Given the description of an element on the screen output the (x, y) to click on. 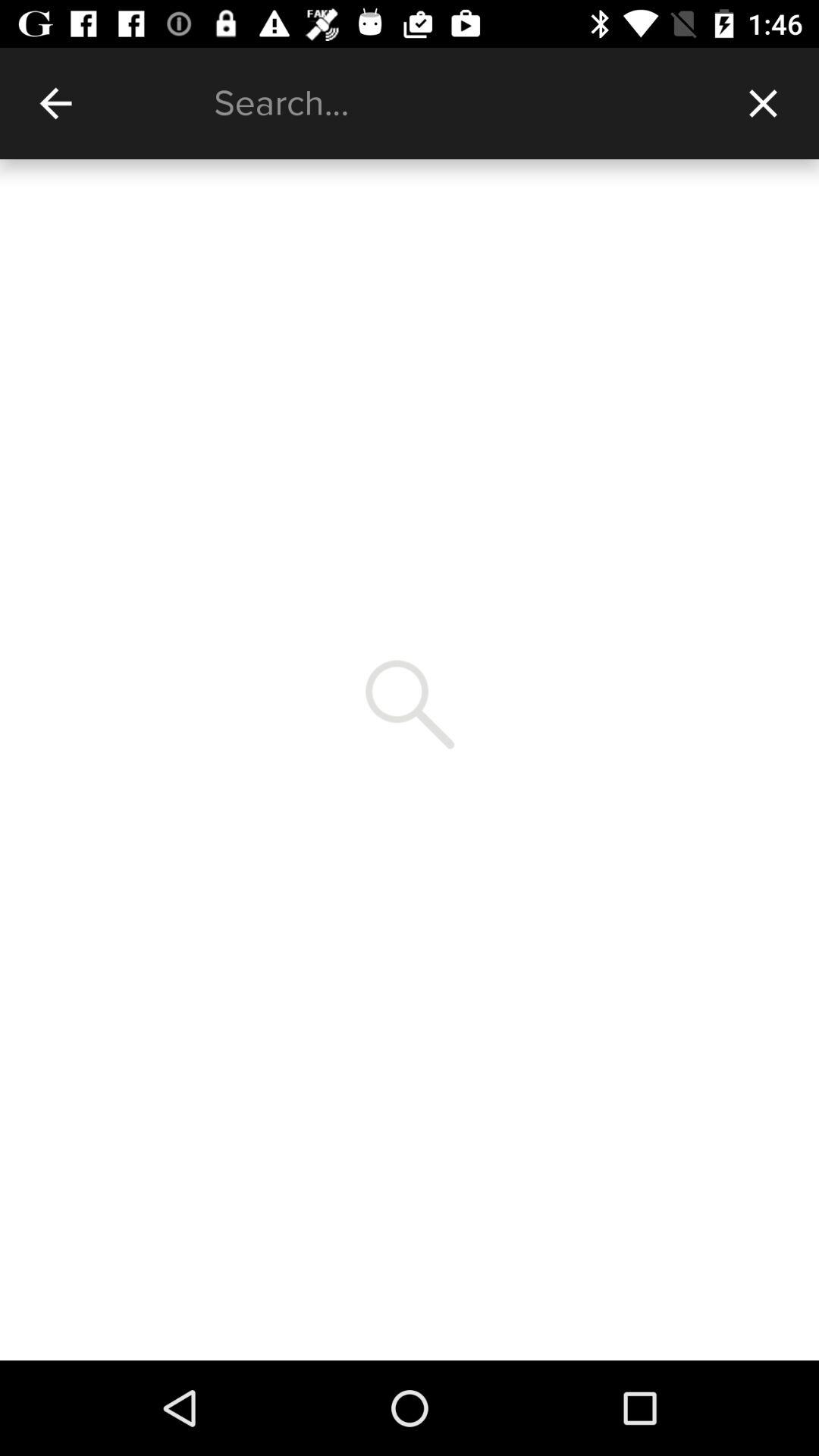
enter search terms (460, 103)
